Given the description of an element on the screen output the (x, y) to click on. 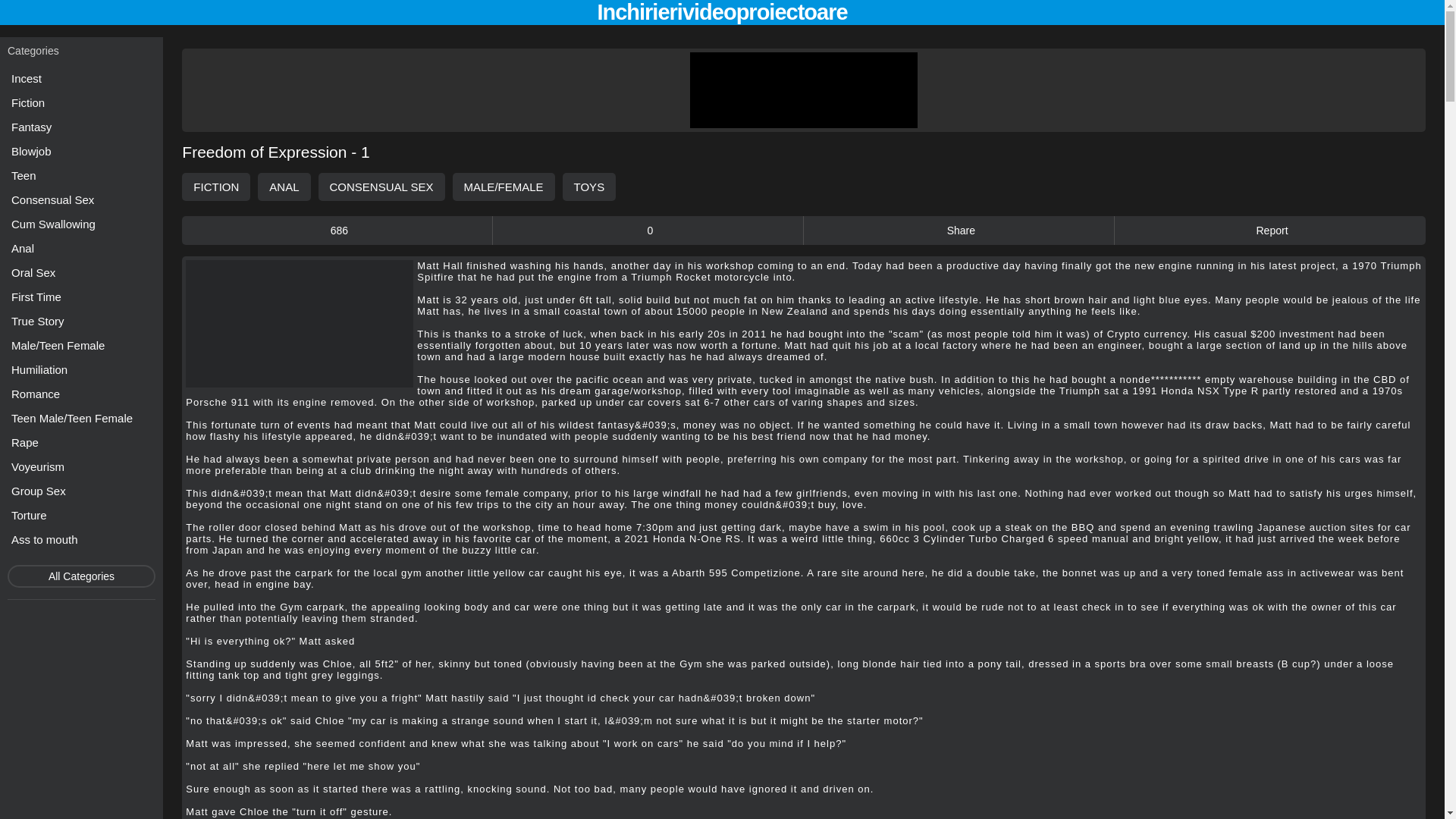
Voyeurism (81, 466)
Cum Swallowing (81, 223)
Teen (81, 175)
Fiction (81, 102)
Humiliation (81, 369)
Romance (81, 394)
CONSENSUAL SEX (381, 186)
Anal (81, 248)
Humiliation (81, 369)
Anal (81, 248)
